Given the description of an element on the screen output the (x, y) to click on. 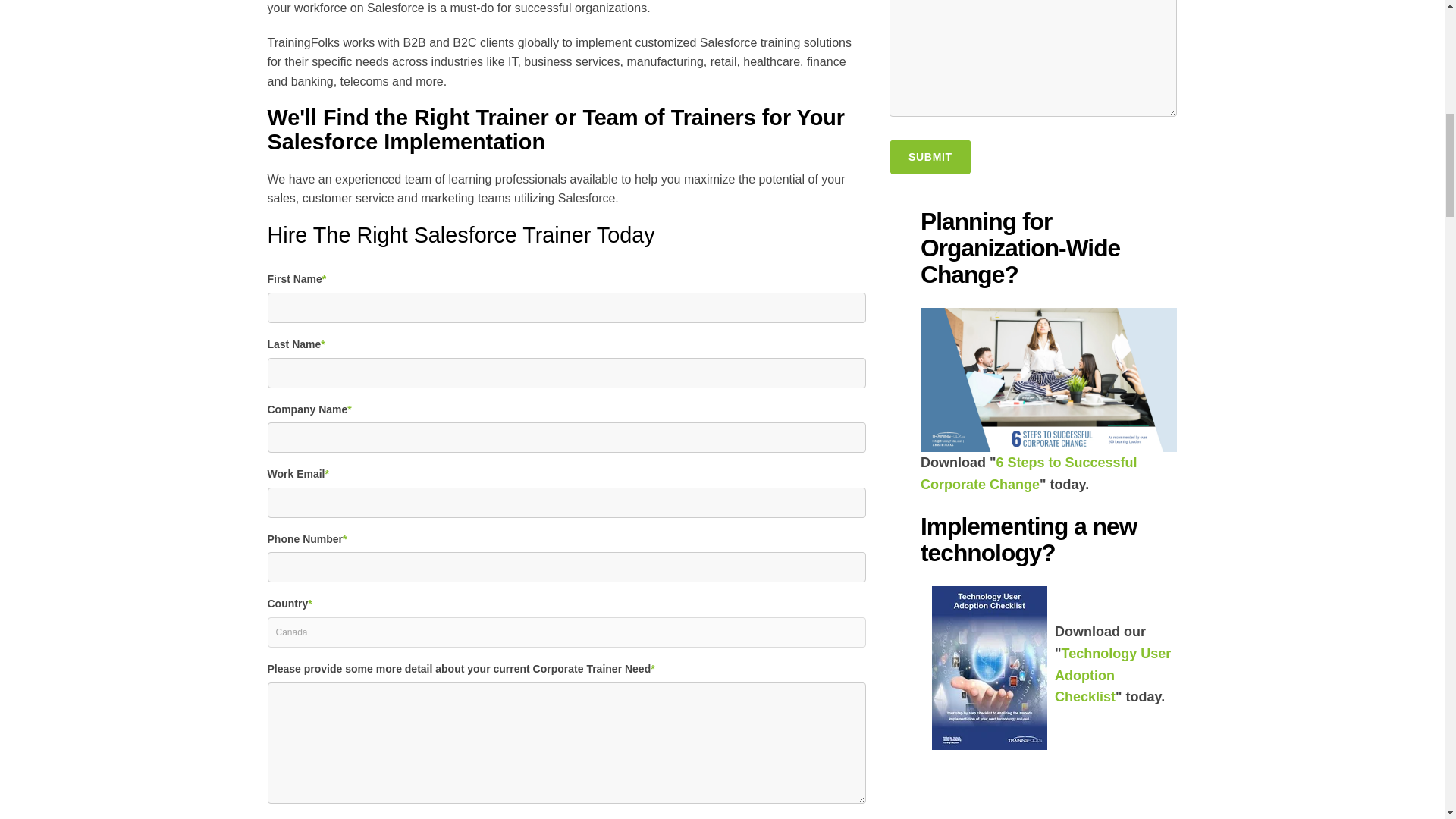
SUBMIT (930, 156)
